Given the description of an element on the screen output the (x, y) to click on. 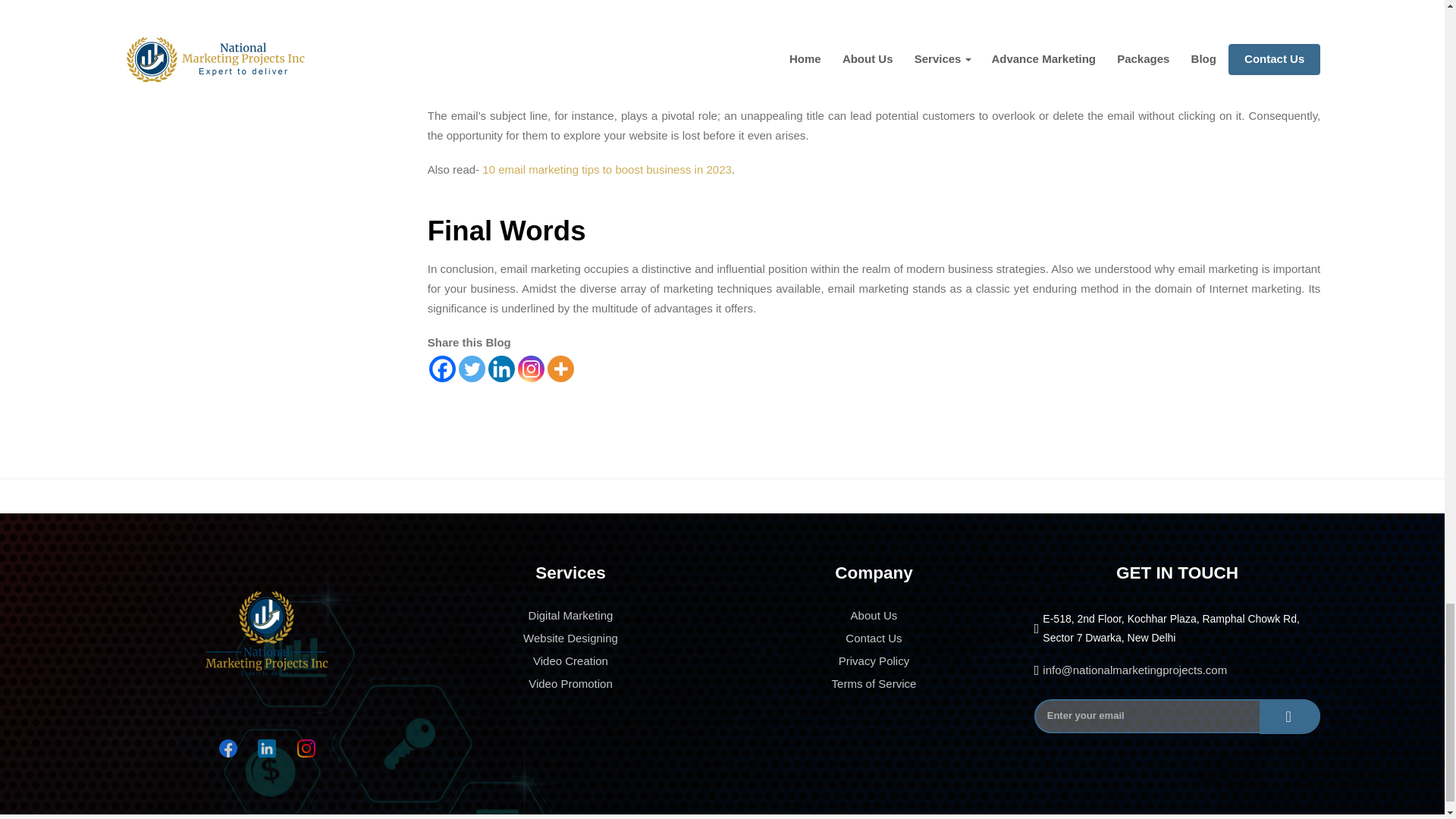
Linkedin (501, 368)
Instagram (531, 368)
Facebook (442, 368)
Twitter (471, 368)
More (560, 368)
